Given the description of an element on the screen output the (x, y) to click on. 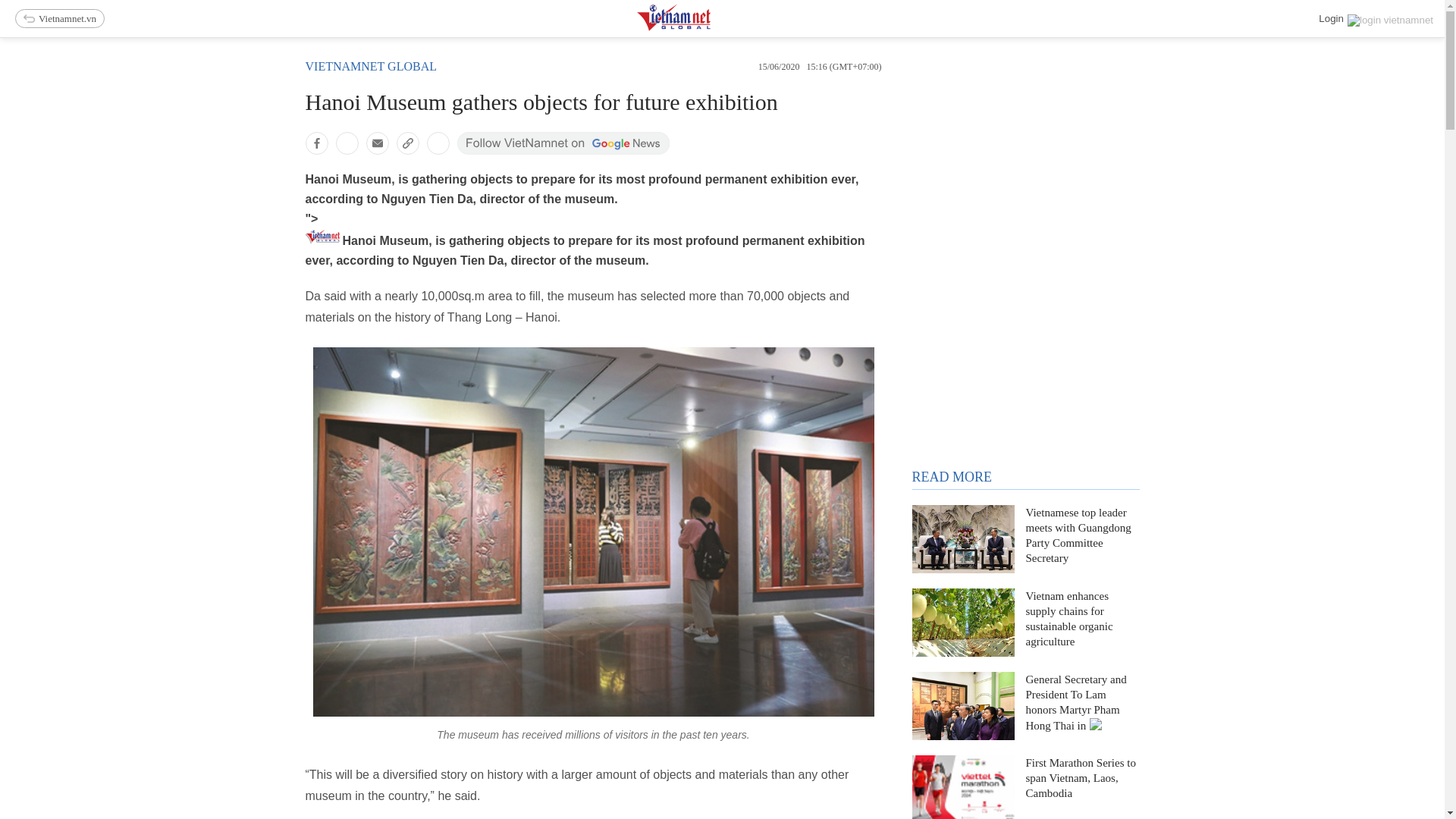
Copy link (407, 142)
Vietnamnet global (369, 65)
Vietnamnet.vn (59, 18)
Share the post on email (376, 142)
VIETNAMNET GLOBAL (369, 65)
Login (1375, 18)
Share the post on facebook (315, 142)
Save post (437, 142)
